Given the description of an element on the screen output the (x, y) to click on. 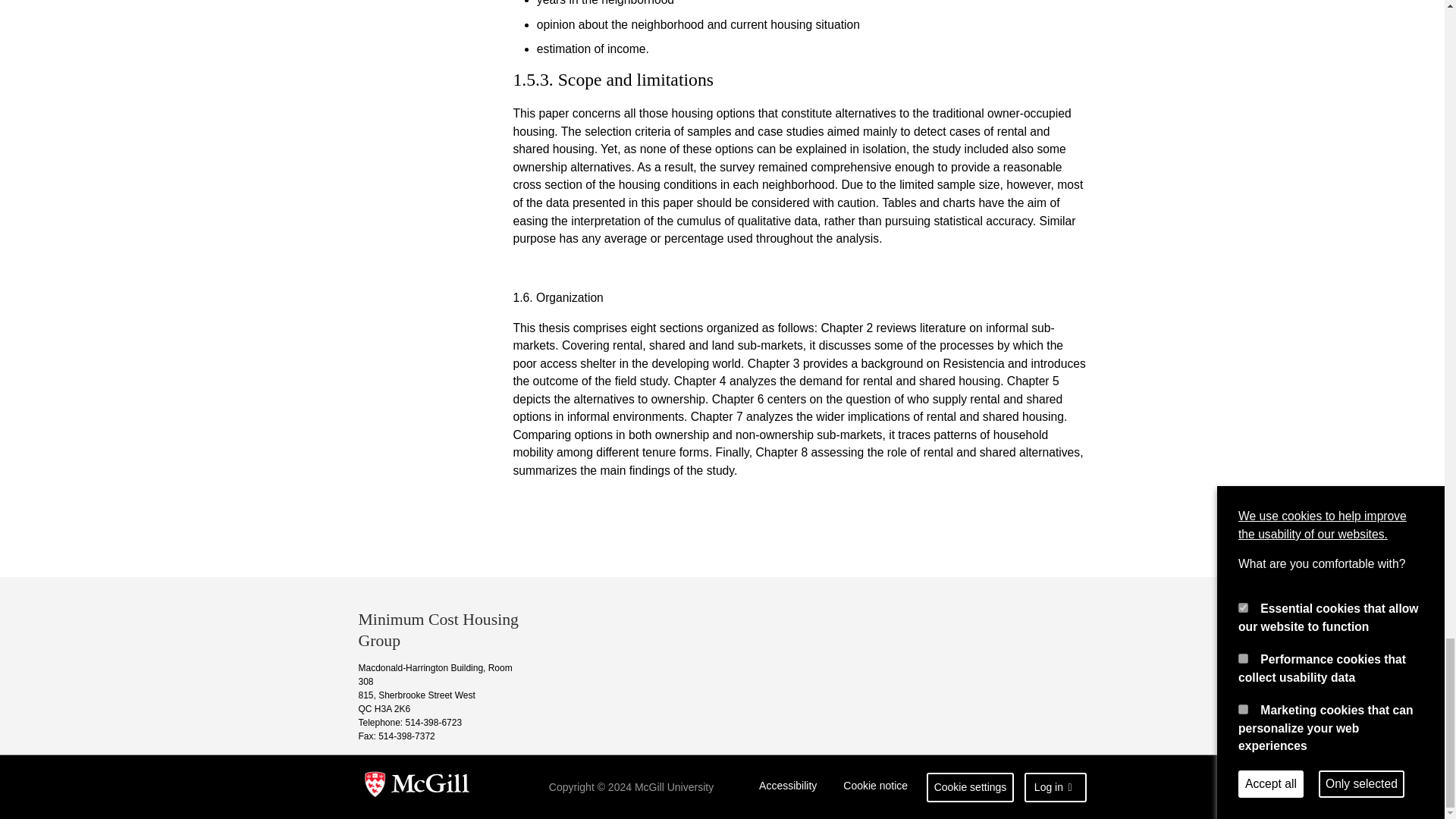
Accessibility (788, 787)
return to McGill University (417, 786)
Cookie notice (875, 787)
